Given the description of an element on the screen output the (x, y) to click on. 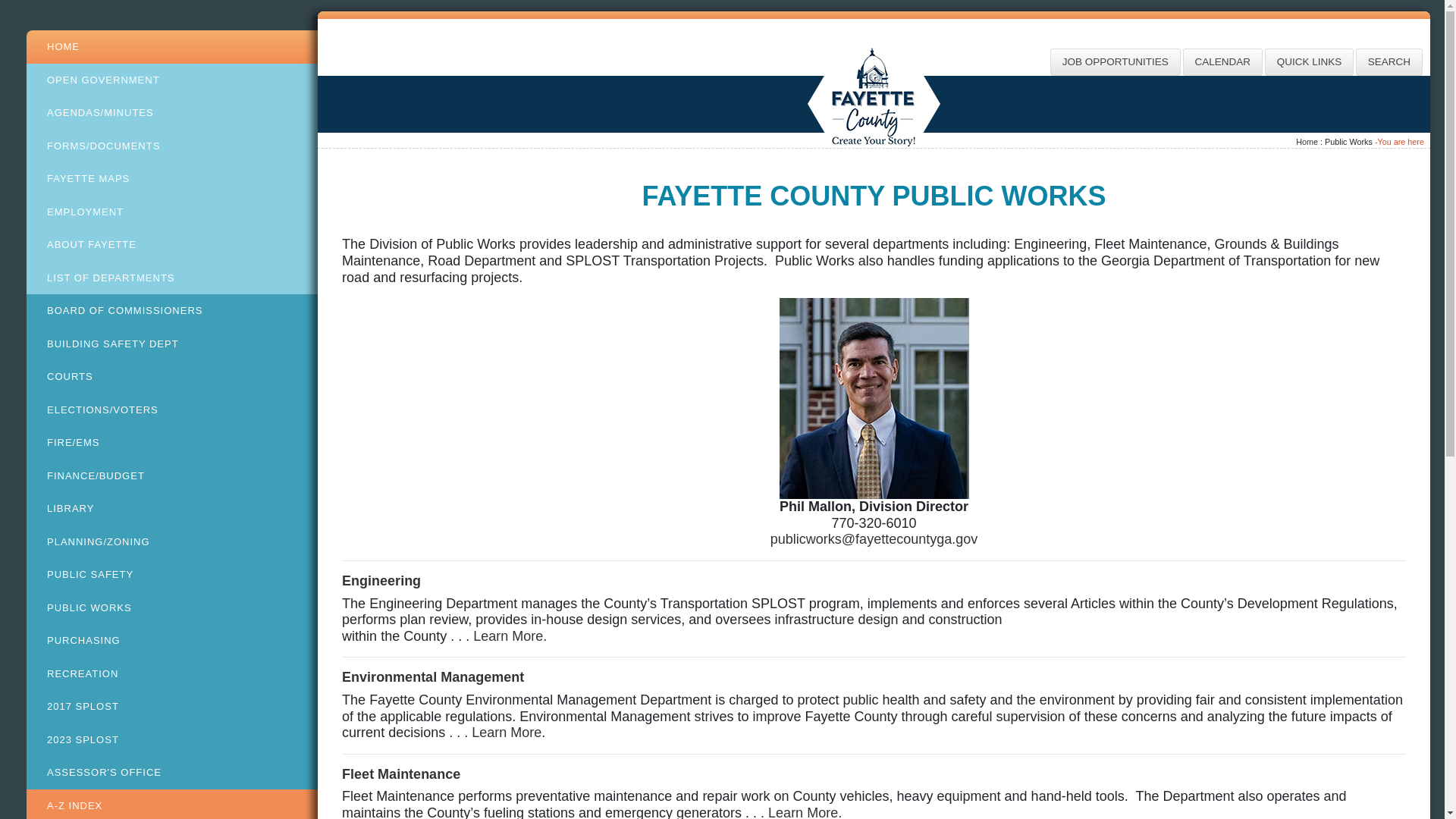
Home (1306, 141)
ABOUT FAYETTE (171, 244)
QUICK LINKS (1309, 62)
HOME (171, 46)
Learn More. (510, 635)
CALENDAR (1222, 62)
LIST OF DEPARTMENTS (171, 277)
Engineering (381, 580)
COURTS (171, 376)
OPEN GOVERNMENT (171, 80)
FAYETTE MAPS (171, 178)
Learn More (506, 732)
LIBRARY (171, 508)
EMPLOYMENT (171, 212)
SEARCH (1388, 62)
